Given the description of an element on the screen output the (x, y) to click on. 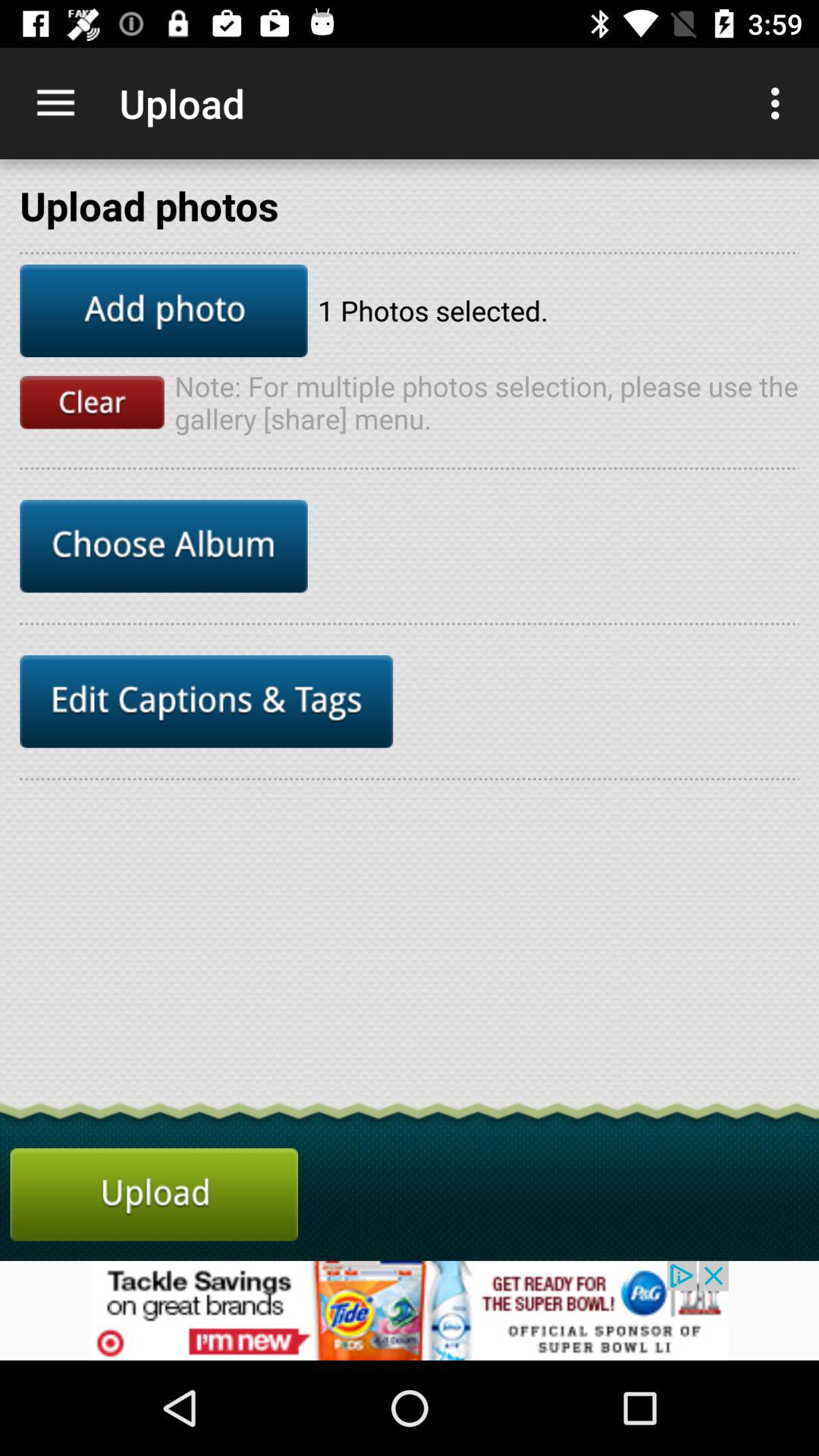
clear photo (91, 401)
